Given the description of an element on the screen output the (x, y) to click on. 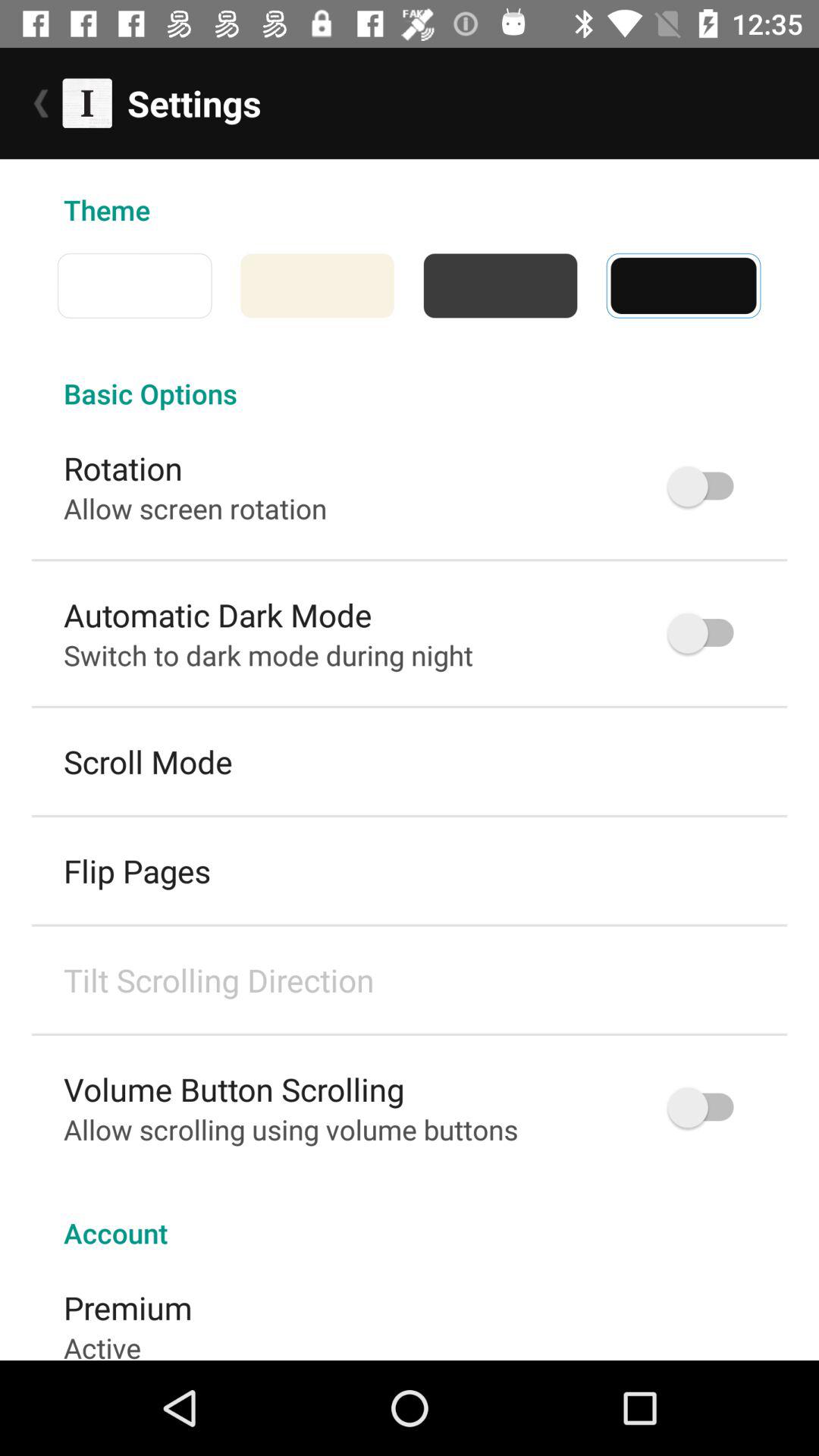
select the item above basic options icon (134, 285)
